Given the description of an element on the screen output the (x, y) to click on. 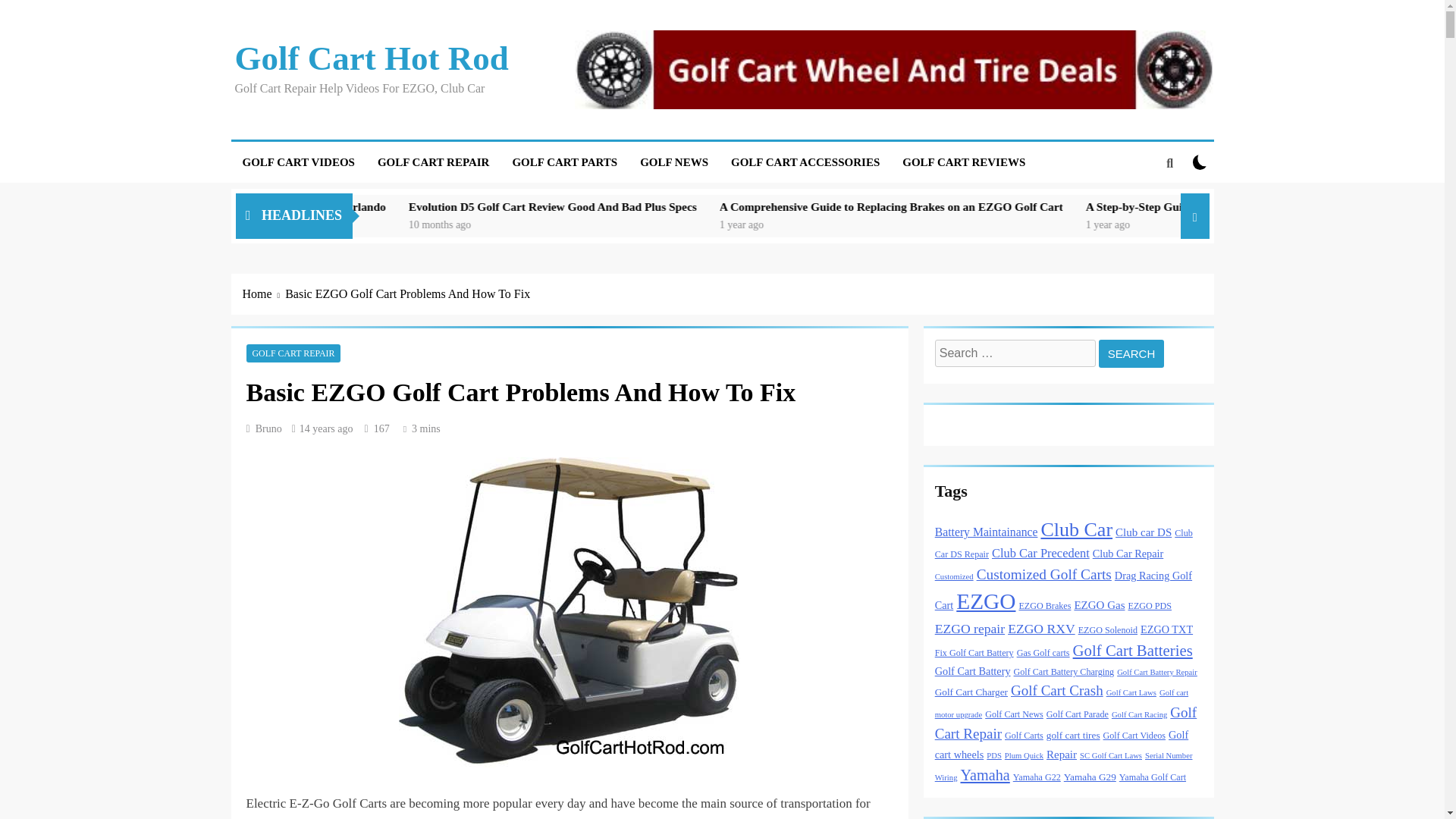
New 2023 Florida Golf Cart Laws In And Around Orlando (408, 206)
GOLF CART VIDEOS (297, 161)
GOLF CART ACCESSORIES (805, 161)
10 months ago (680, 223)
Search (1131, 353)
on (1199, 161)
GOLF CART REPAIR (433, 161)
GOLF CART PARTS (564, 161)
1 year ago (978, 223)
Evolution D5 Golf Cart Review Good And Bad Plus Specs (717, 206)
Search (1131, 353)
10 months ago (370, 223)
New 2023 Florida Golf Cart Laws In And Around Orlando (486, 206)
